Given the description of an element on the screen output the (x, y) to click on. 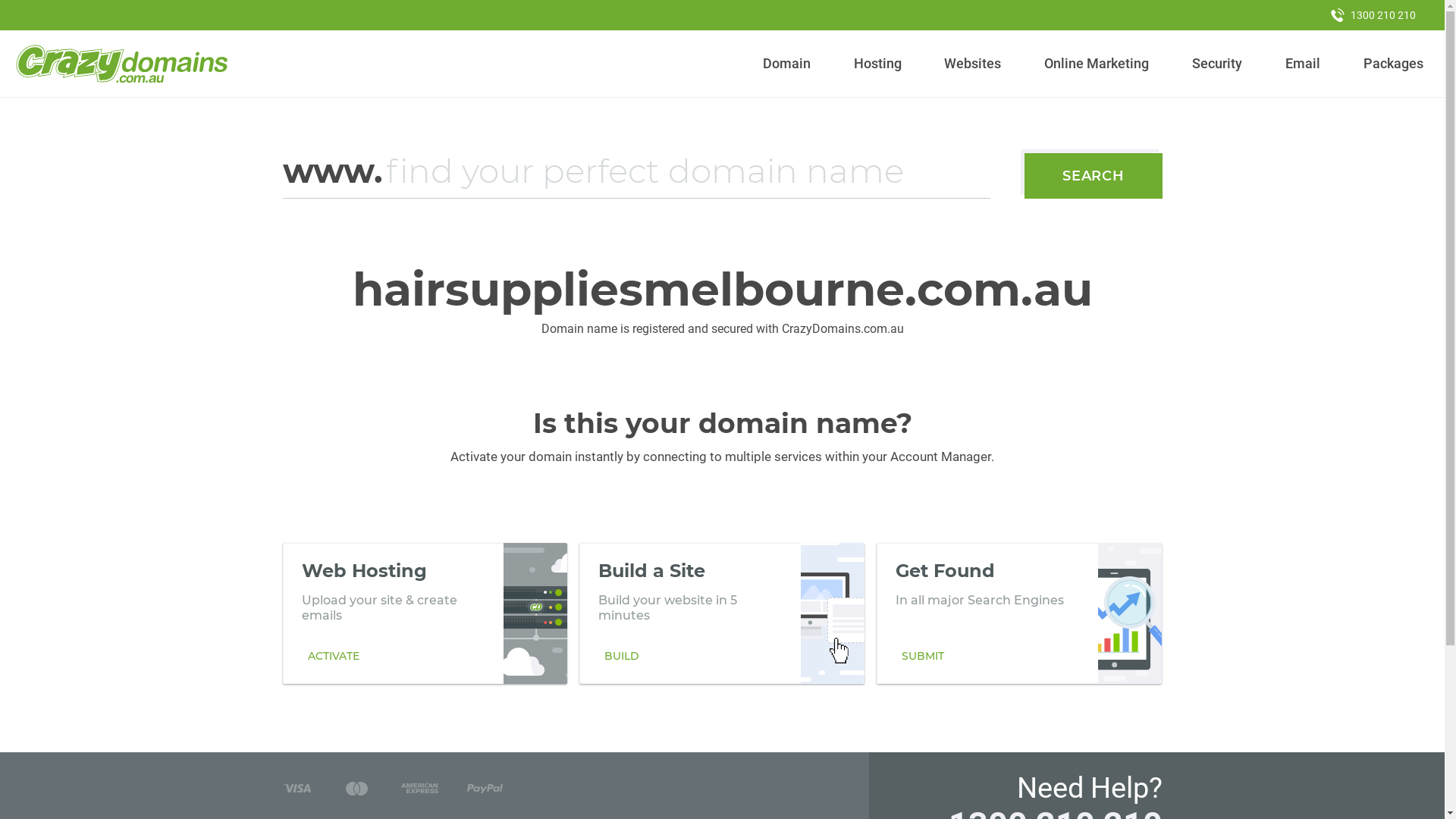
Hosting Element type: text (877, 63)
Online Marketing Element type: text (1096, 63)
Packages Element type: text (1392, 63)
Domain Element type: text (786, 63)
Security Element type: text (1217, 63)
Websites Element type: text (972, 63)
SEARCH Element type: text (1092, 175)
Get Found
In all major Search Engines
SUBMIT Element type: text (1018, 613)
Build a Site
Build your website in 5 minutes
BUILD Element type: text (721, 613)
Web Hosting
Upload your site & create emails
ACTIVATE Element type: text (424, 613)
1300 210 210 Element type: text (1373, 15)
Email Element type: text (1302, 63)
